Given the description of an element on the screen output the (x, y) to click on. 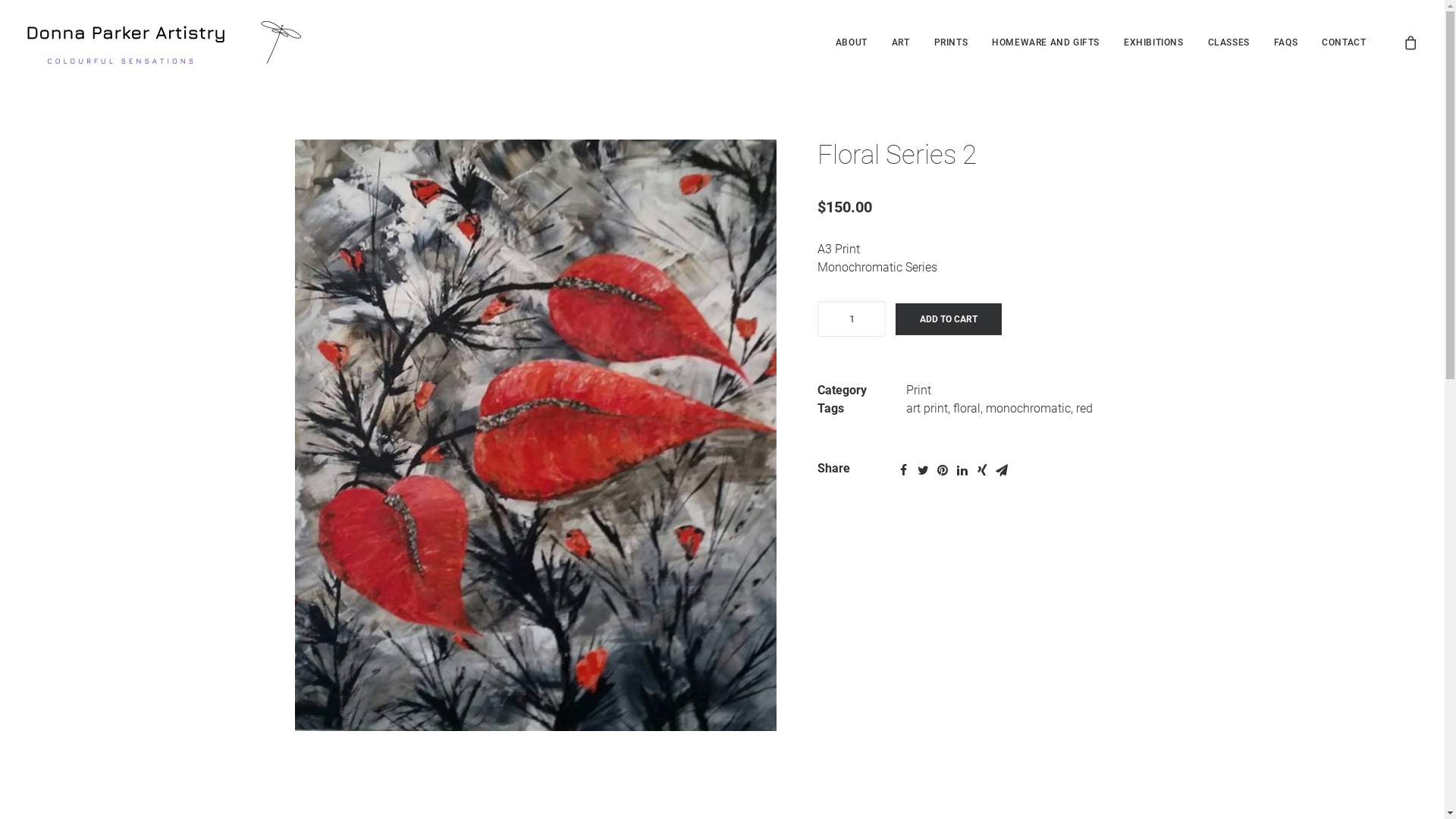
PRINTS Element type: text (951, 42)
ADD TO CART Element type: text (948, 319)
FAQS Element type: text (1285, 42)
ABOUT Element type: text (851, 42)
cart Element type: hover (1410, 42)
floral Element type: text (966, 408)
monochromatic Element type: text (1027, 408)
EXHIBITIONS Element type: text (1153, 42)
CLASSES Element type: text (1228, 42)
ART Element type: text (900, 42)
Qty Element type: hover (851, 318)
red Element type: text (1084, 408)
CONTACT Element type: text (1338, 42)
HOMEWARE AND GIFTS Element type: text (1045, 42)
art print Element type: text (926, 408)
Print Element type: text (918, 389)
